Given the description of an element on the screen output the (x, y) to click on. 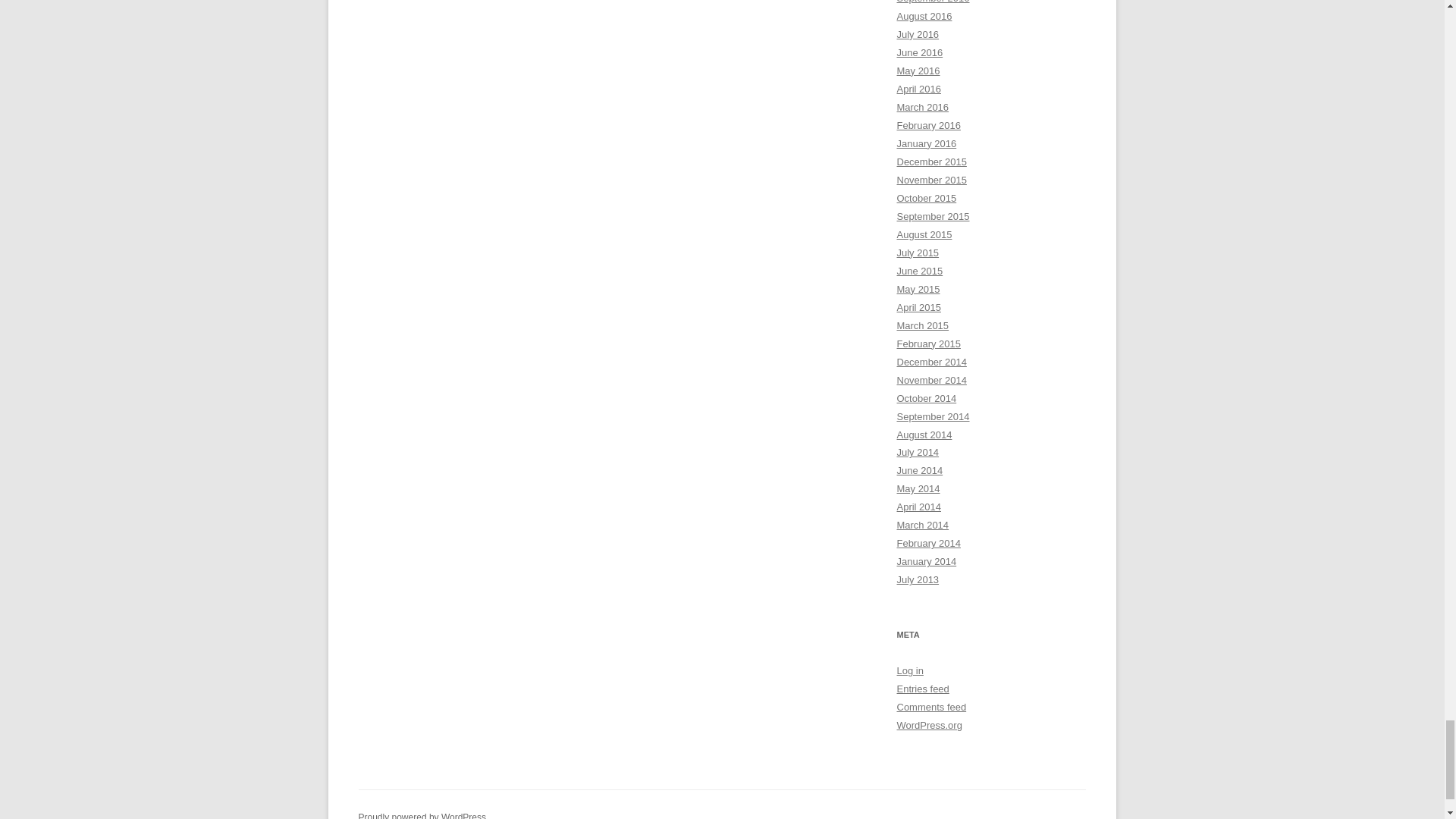
Semantic Personal Publishing Platform (422, 815)
